Given the description of an element on the screen output the (x, y) to click on. 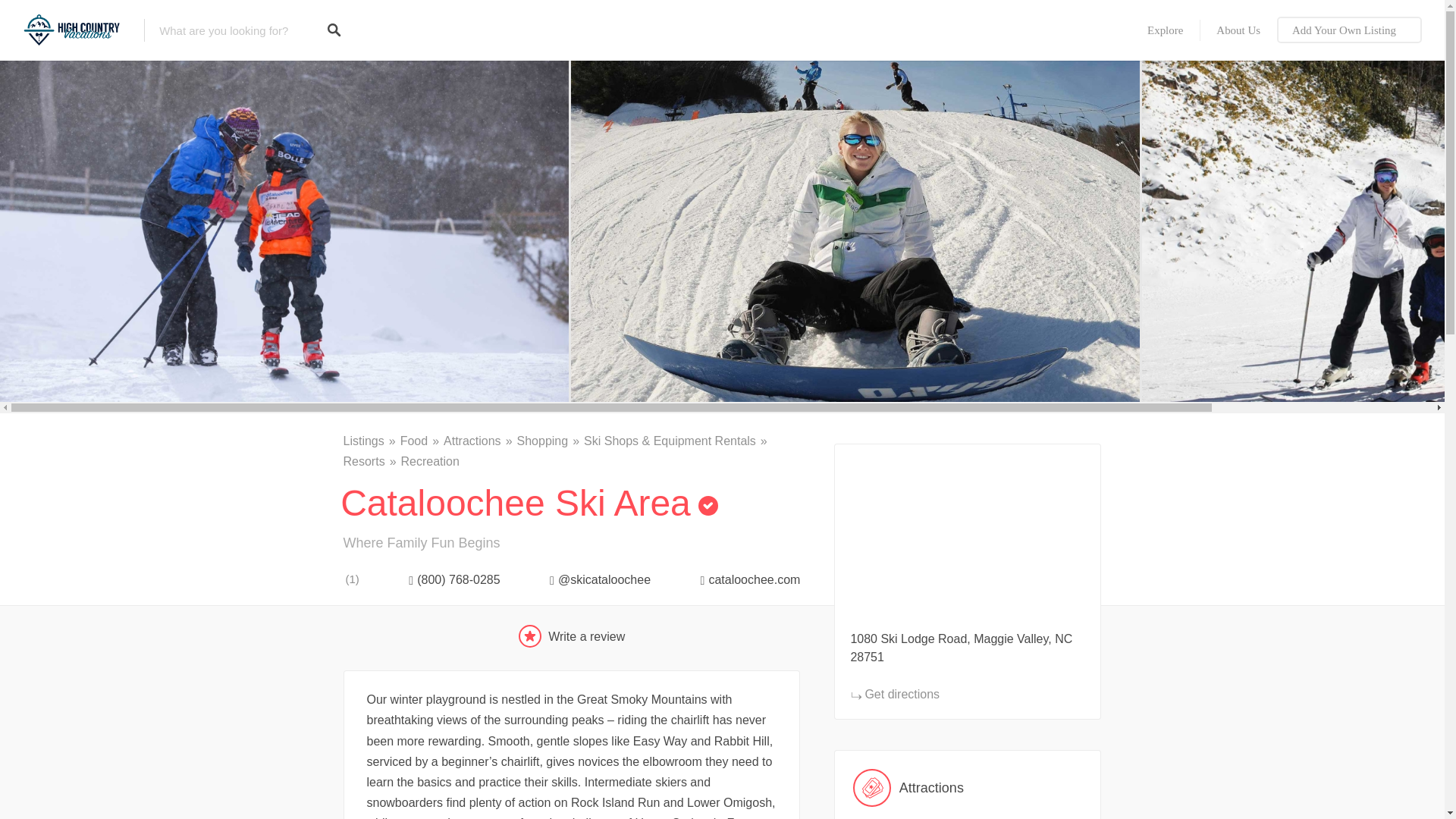
Resorts (371, 461)
Attractions (967, 787)
Food (422, 440)
Listings (370, 440)
Explore (1165, 30)
About Us (1237, 30)
cataloochee.com (745, 579)
Get directions (894, 694)
Add Your Own Listing (1349, 29)
Recreation (430, 461)
Attractions (480, 440)
Write a review (572, 635)
Shopping (550, 440)
